Given the description of an element on the screen output the (x, y) to click on. 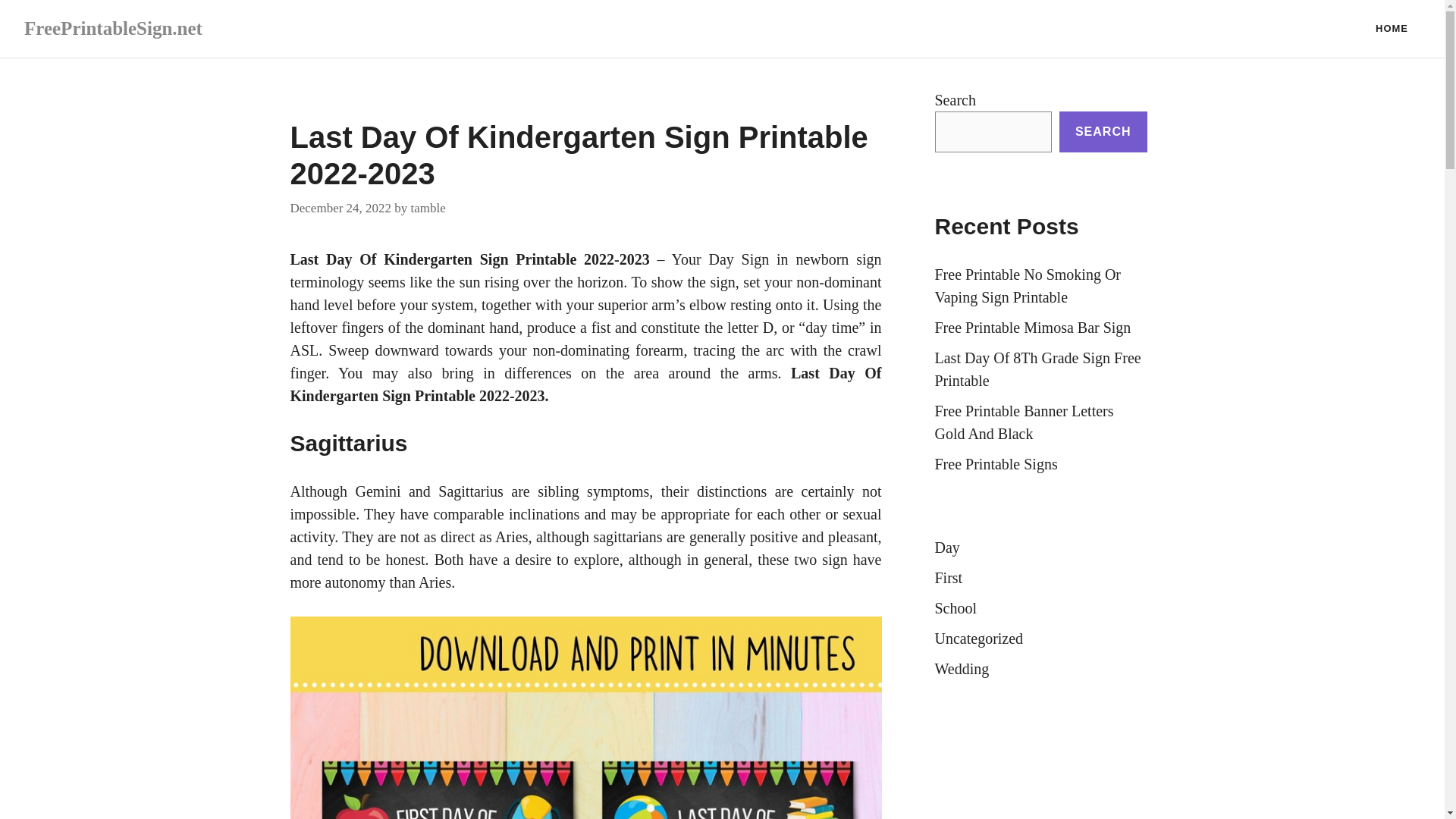
School (955, 607)
tamble (427, 206)
Last Day Of 8Th Grade Sign Free Printable (1037, 369)
Free Printable Signs (995, 463)
Free Printable Mimosa Bar Sign (1032, 327)
Day (946, 547)
HOME (1391, 28)
FreePrintableSign.net (113, 28)
Free Printable Banner Letters Gold And Black (1023, 422)
SEARCH (1103, 131)
